Given the description of an element on the screen output the (x, y) to click on. 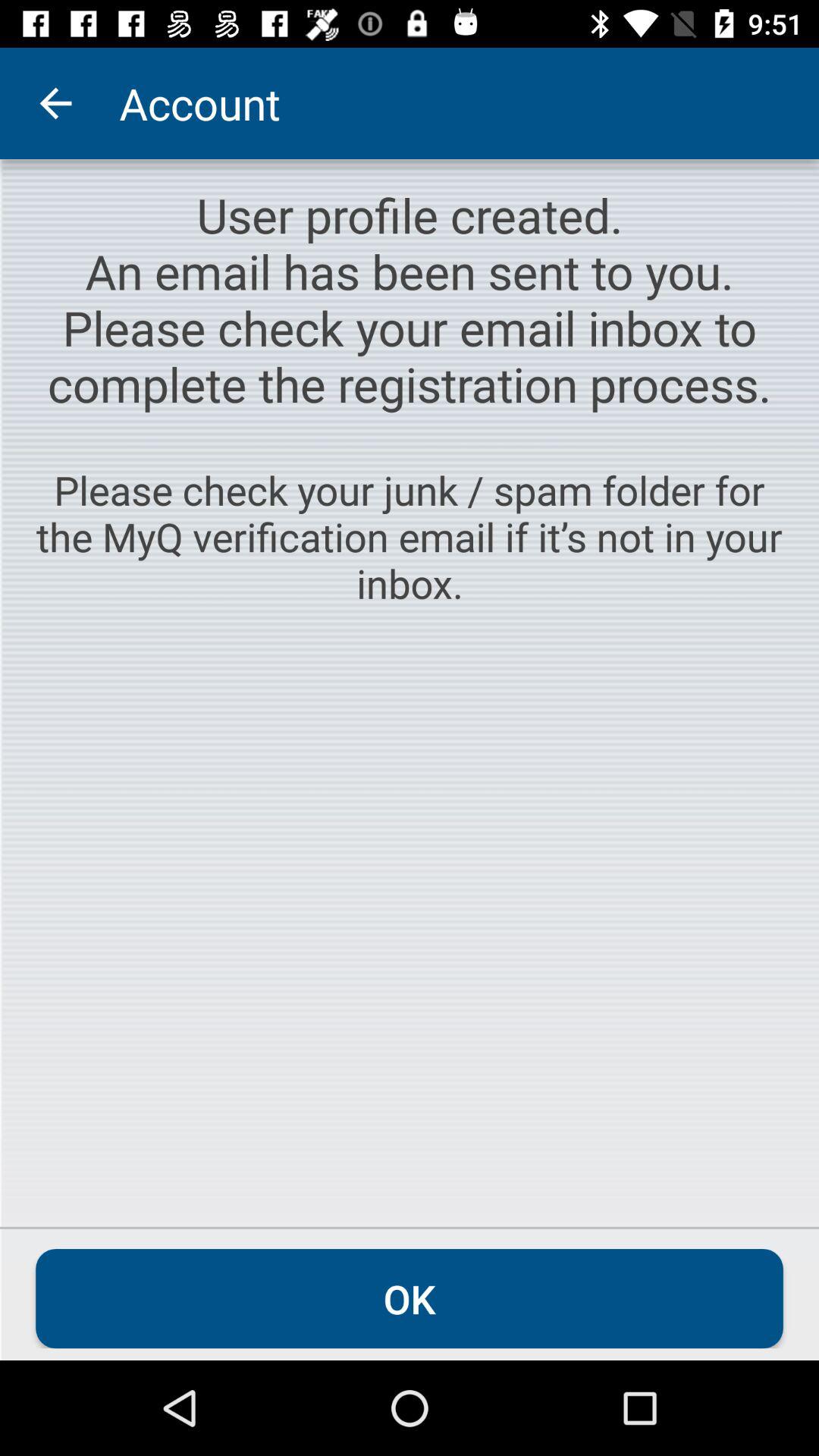
click the item above user profile created (55, 103)
